Given the description of an element on the screen output the (x, y) to click on. 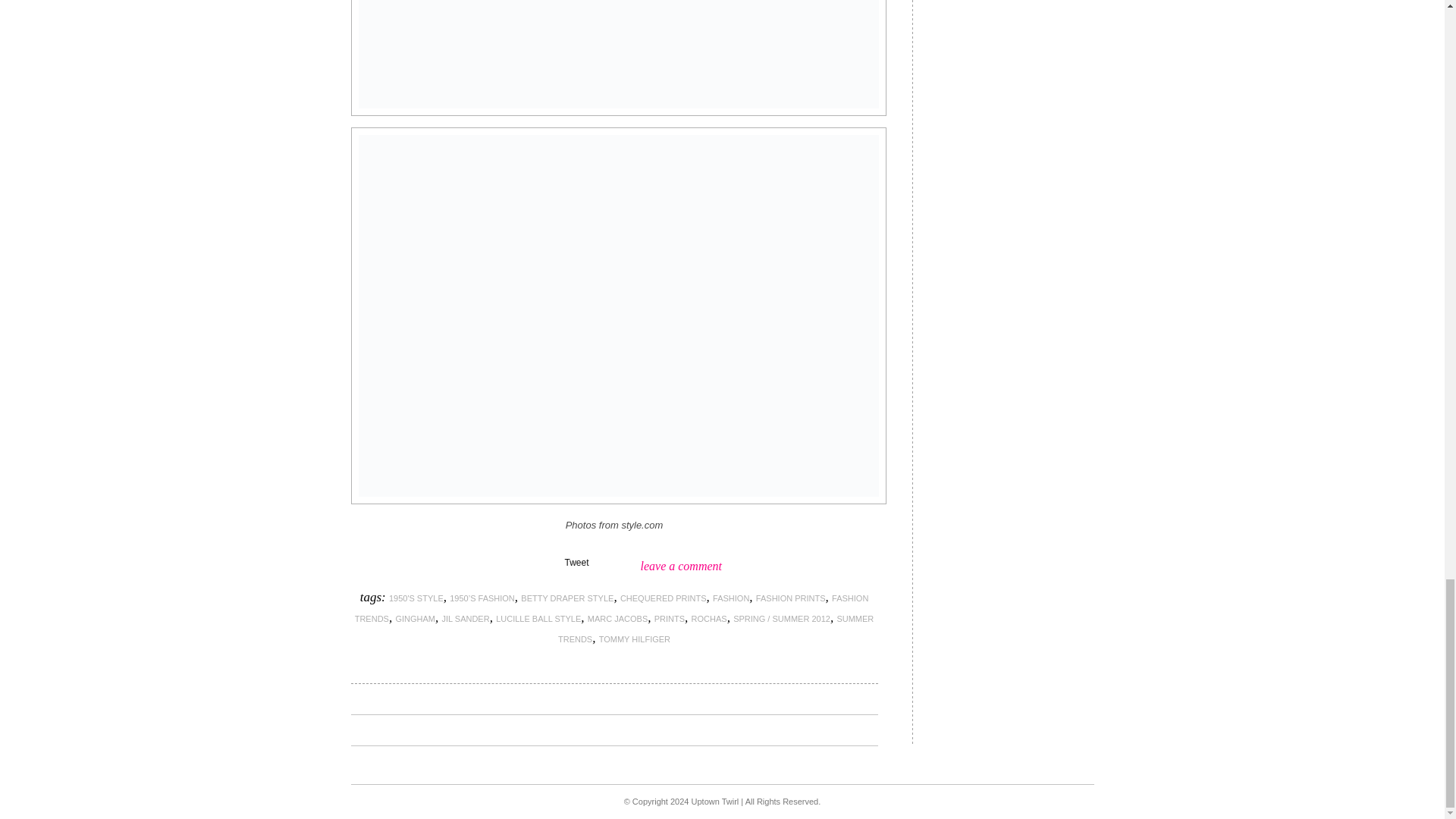
CHEQUERED PRINTS (663, 597)
FASHION (731, 597)
FASHION TRENDS (612, 608)
LUCILLE BALL STYLE (538, 618)
BETTY DRAPER STYLE (566, 597)
FASHION PRINTS (790, 597)
leave a comment (681, 565)
Tweet (576, 562)
GINGHAM (414, 618)
JIL SANDER (465, 618)
1950'S STYLE (416, 597)
